Given the description of an element on the screen output the (x, y) to click on. 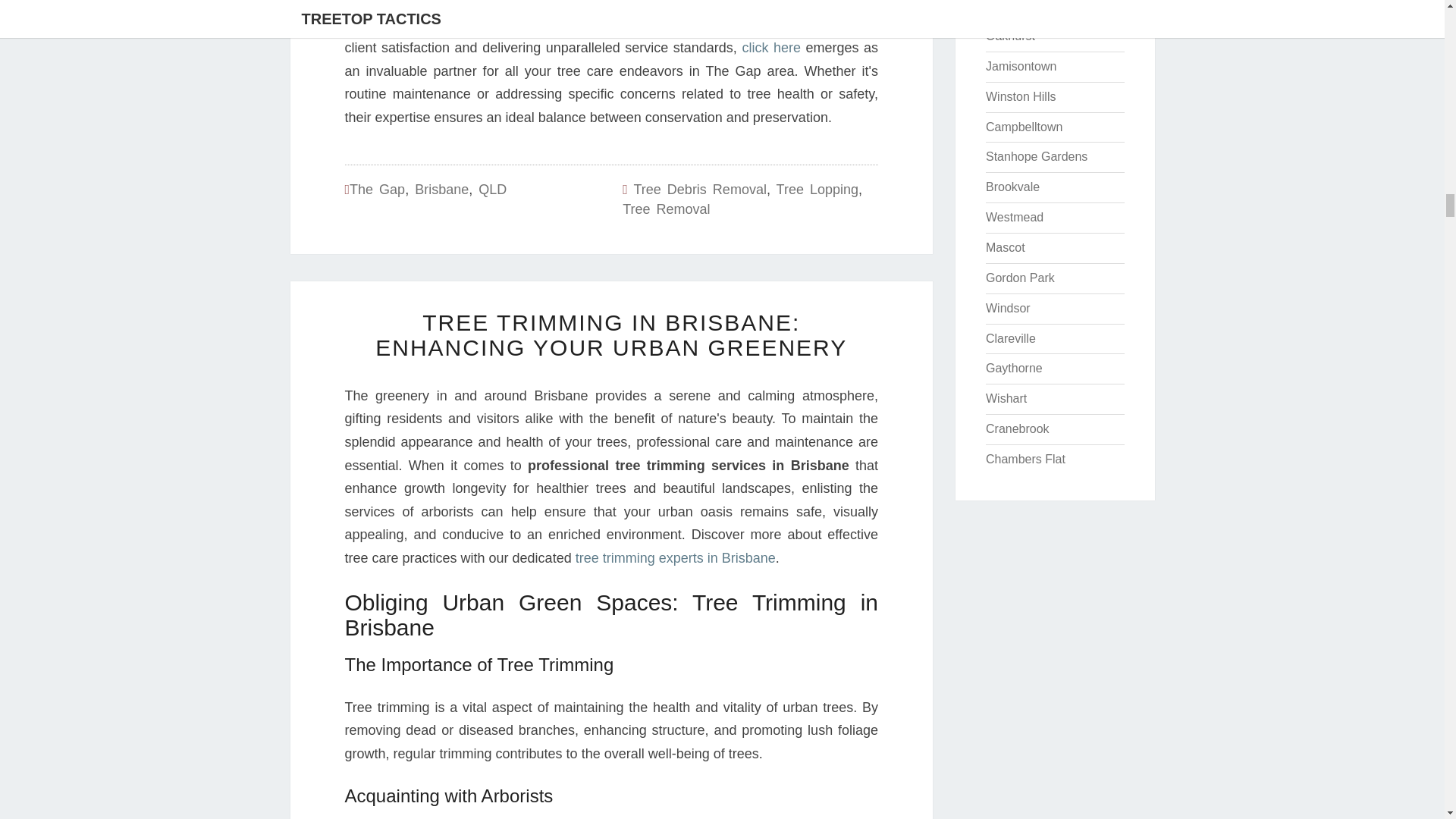
Tree Debris Removal (700, 189)
Brisbane (441, 189)
Tree Removal (666, 209)
The Gap (376, 189)
TREE TRIMMING IN BRISBANE: ENHANCING YOUR URBAN GREENERY (611, 335)
Tree Lopping (817, 189)
QLD (492, 189)
tree trimming experts in Brisbane (675, 557)
click here (770, 47)
